Given the description of an element on the screen output the (x, y) to click on. 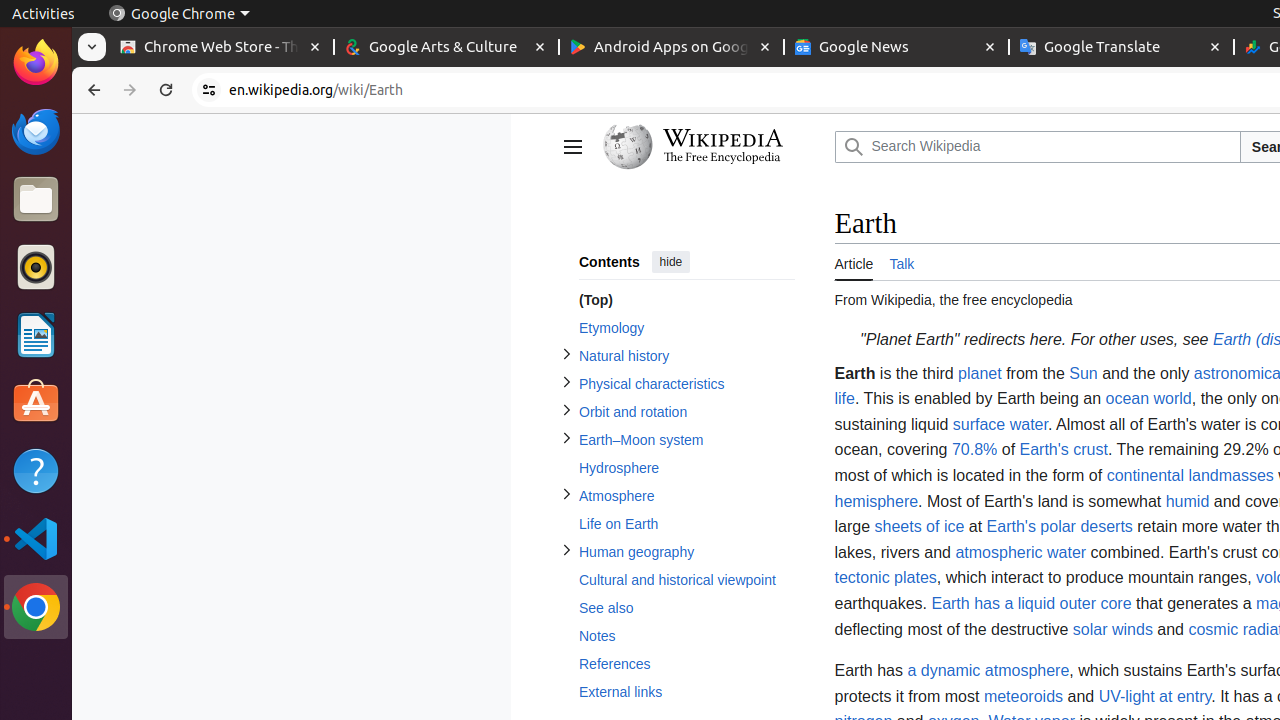
Hydrosphere Element type: link (686, 468)
Visual Studio Code Element type: push-button (36, 538)
Toggle Physical characteristics subsection Element type: push-button (566, 382)
Thunderbird Mail Element type: push-button (36, 131)
Article Element type: link (854, 262)
